Given the description of an element on the screen output the (x, y) to click on. 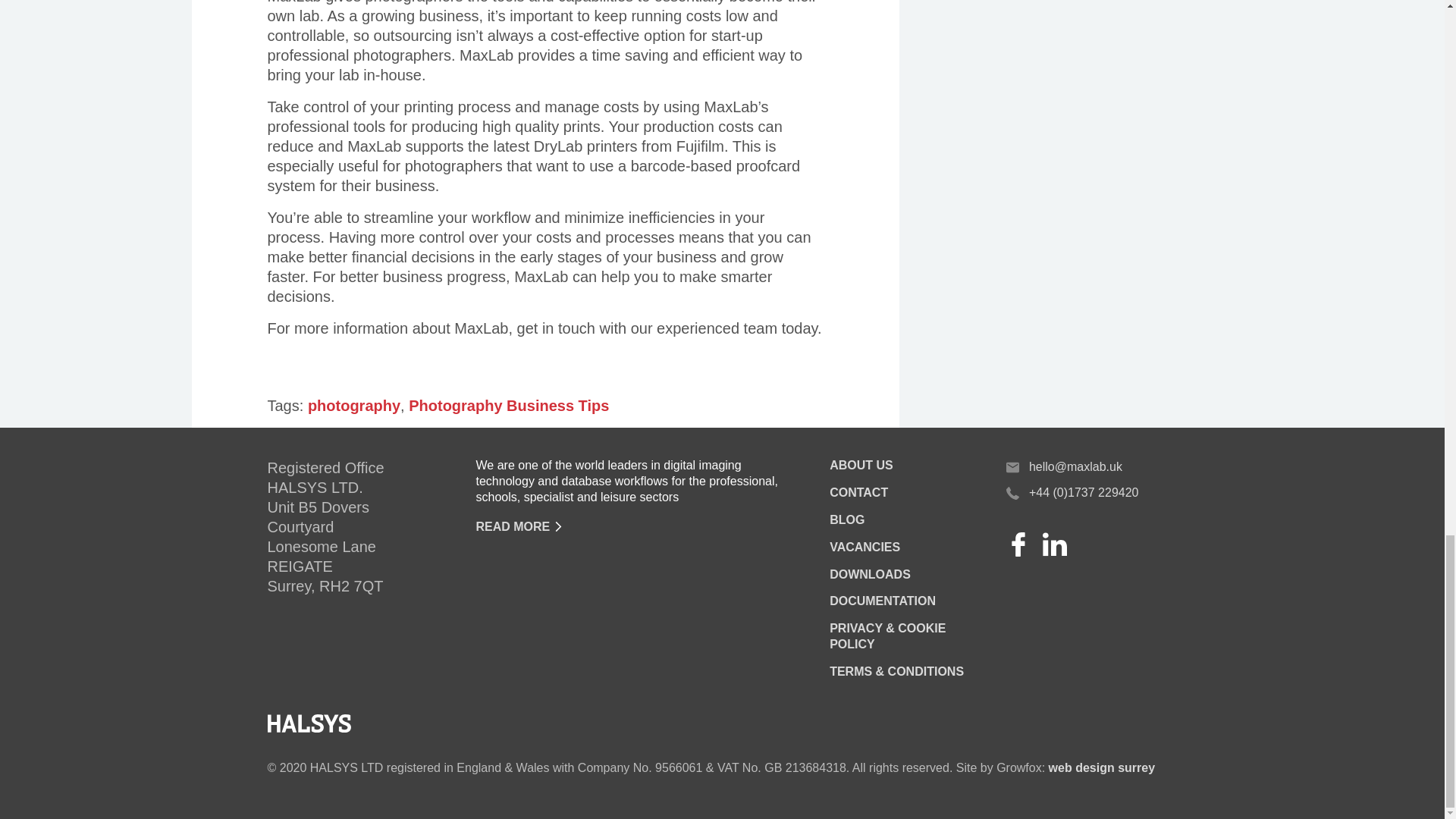
BLOG (846, 519)
DOWNLOADS (870, 574)
Photography Business Tips (508, 405)
VACANCIES (864, 546)
READ MORE (513, 526)
photography (353, 405)
CONTACT (858, 492)
DOCUMENTATION (882, 600)
ABOUT US (861, 464)
web design surrey (1102, 767)
